Given the description of an element on the screen output the (x, y) to click on. 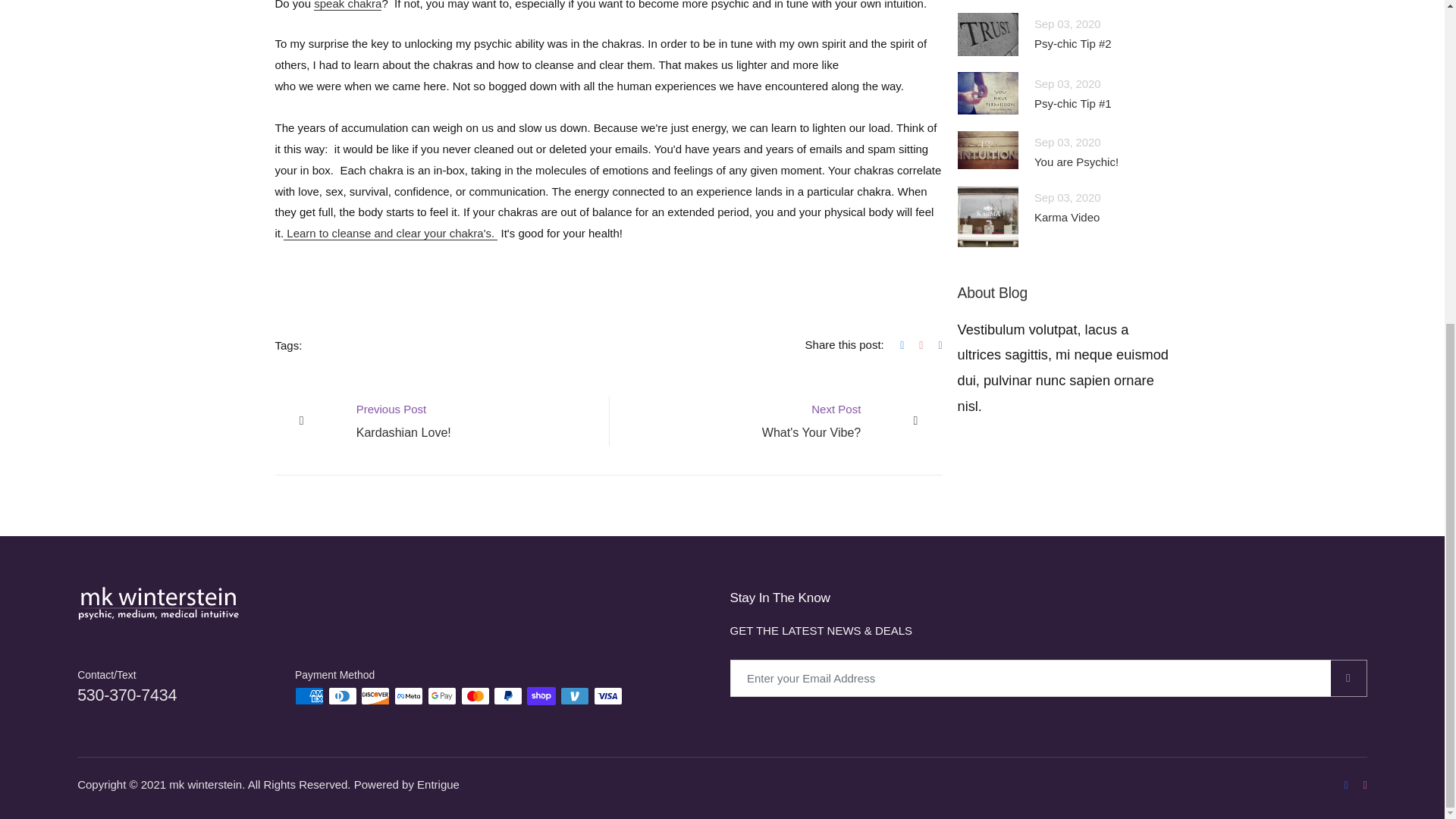
Mastercard (475, 696)
American Express (309, 696)
Shop Pay (441, 420)
PayPal (541, 696)
Discover (507, 696)
Visa (775, 420)
Google Pay (375, 696)
Venmo (608, 696)
